Given the description of an element on the screen output the (x, y) to click on. 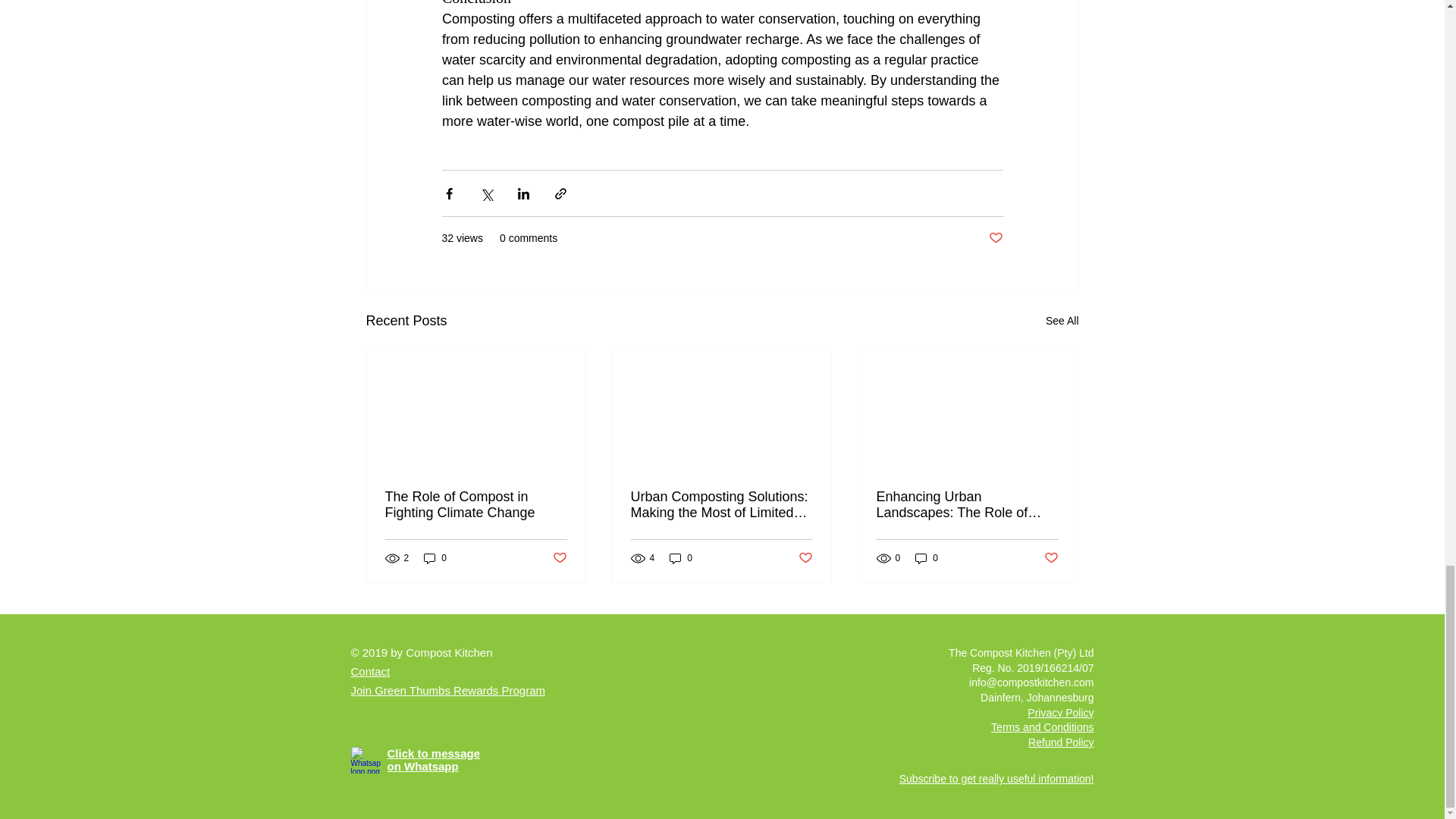
0 (681, 558)
on Whatsapp (422, 766)
0 (926, 558)
Post not marked as liked (1050, 558)
Post not marked as liked (995, 238)
See All (1061, 321)
Click to message (433, 753)
0 (435, 558)
Post not marked as liked (558, 558)
Join Green Thumbs Rewards Program (447, 689)
Post not marked as liked (804, 558)
Contact (370, 671)
The Role of Compost in Fighting Climate Change (476, 504)
Urban Composting Solutions: Making the Most of Limited Space (721, 504)
